Given the description of an element on the screen output the (x, y) to click on. 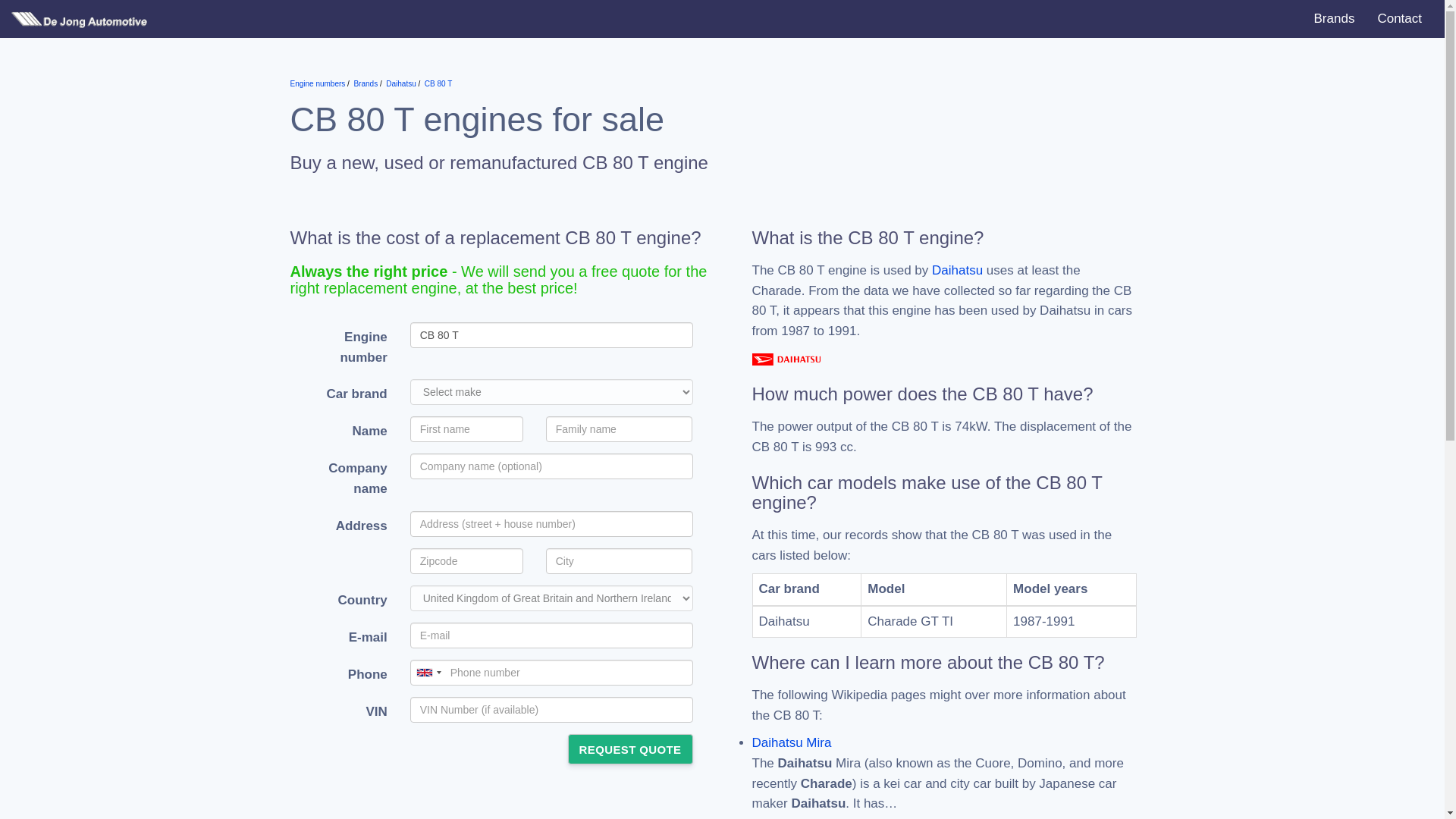
Daihatsu (399, 83)
Daihatsu (956, 269)
Daihatsu Mira (791, 742)
REQUEST QUOTE (630, 748)
CB 80 T (551, 335)
Brands (1335, 18)
Contact (1398, 18)
Brands (365, 83)
CB 80 T (438, 83)
Engine numbers (317, 83)
